Given the description of an element on the screen output the (x, y) to click on. 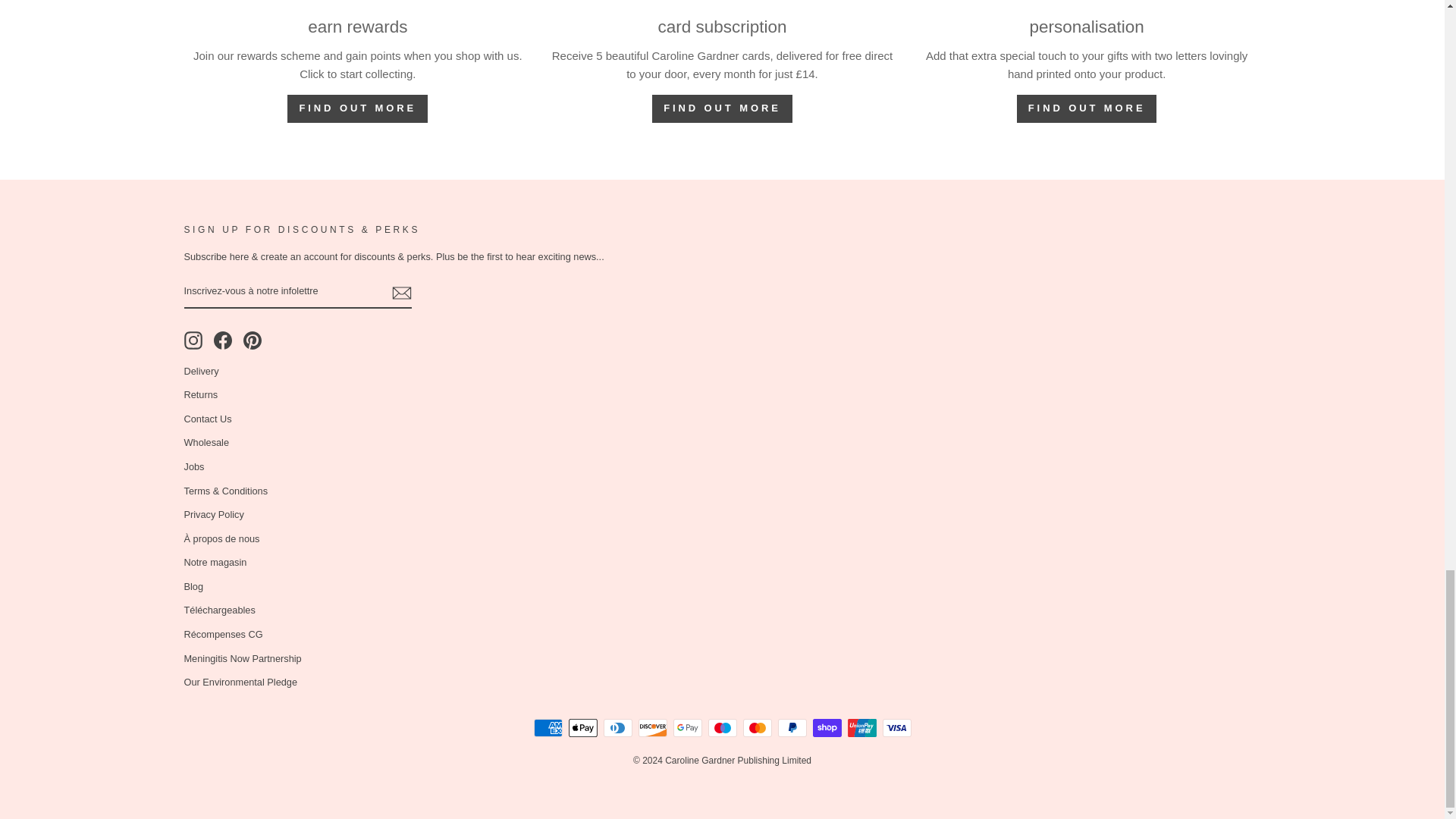
Diners Club (617, 728)
Caroline Gardner sur Pinterest (251, 340)
Caroline Gardner sur Facebook (222, 340)
American Express (548, 728)
Caroline Gardner sur Instagram (192, 340)
Apple Pay (582, 728)
instagram (192, 340)
Discover (652, 728)
icon-email (400, 292)
